Given the description of an element on the screen output the (x, y) to click on. 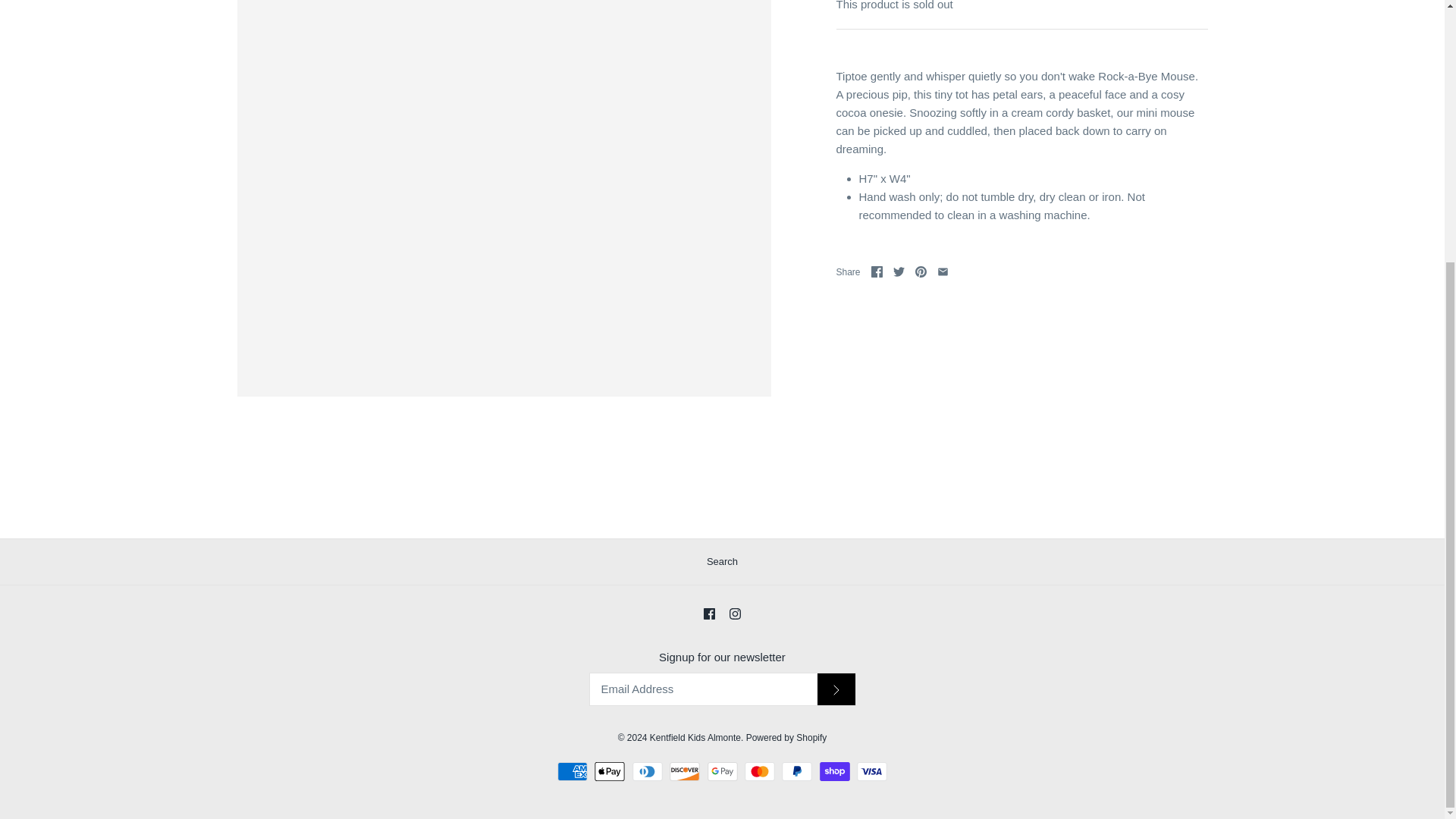
Visa (871, 771)
Share on Facebook (876, 271)
Facebook (876, 271)
PayPal (796, 771)
Discover (684, 771)
Email (943, 271)
Apple Pay (609, 771)
Diners Club (646, 771)
Twitter (898, 271)
Google Pay (721, 771)
